Given the description of an element on the screen output the (x, y) to click on. 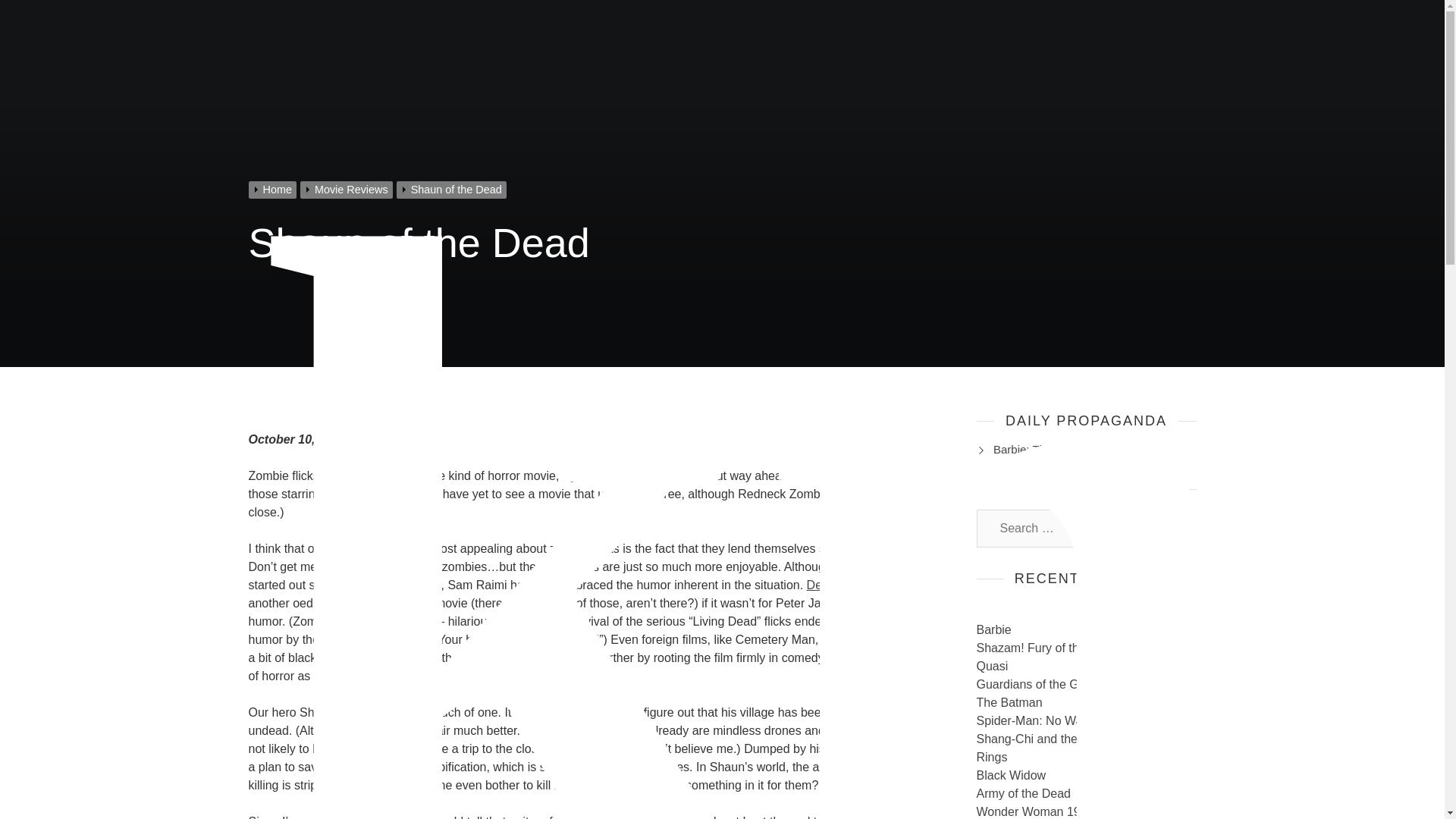
Spider-Man: No Way Home (1050, 720)
Army of the Dead (1023, 793)
Barbie (993, 629)
Black Widow (1011, 775)
The Batman (1009, 702)
Search (1168, 528)
The Evil Dead (872, 566)
Barbie: The Movie (1038, 449)
Shang-Chi and the Legend of the Ten Rings (1076, 747)
Shaun of the Dead (453, 189)
Shazam! Fury of the Gods (1047, 647)
Re-Animator (399, 621)
Search (1168, 528)
Evil Dead II (409, 584)
Movie Reviews (347, 189)
